Given the description of an element on the screen output the (x, y) to click on. 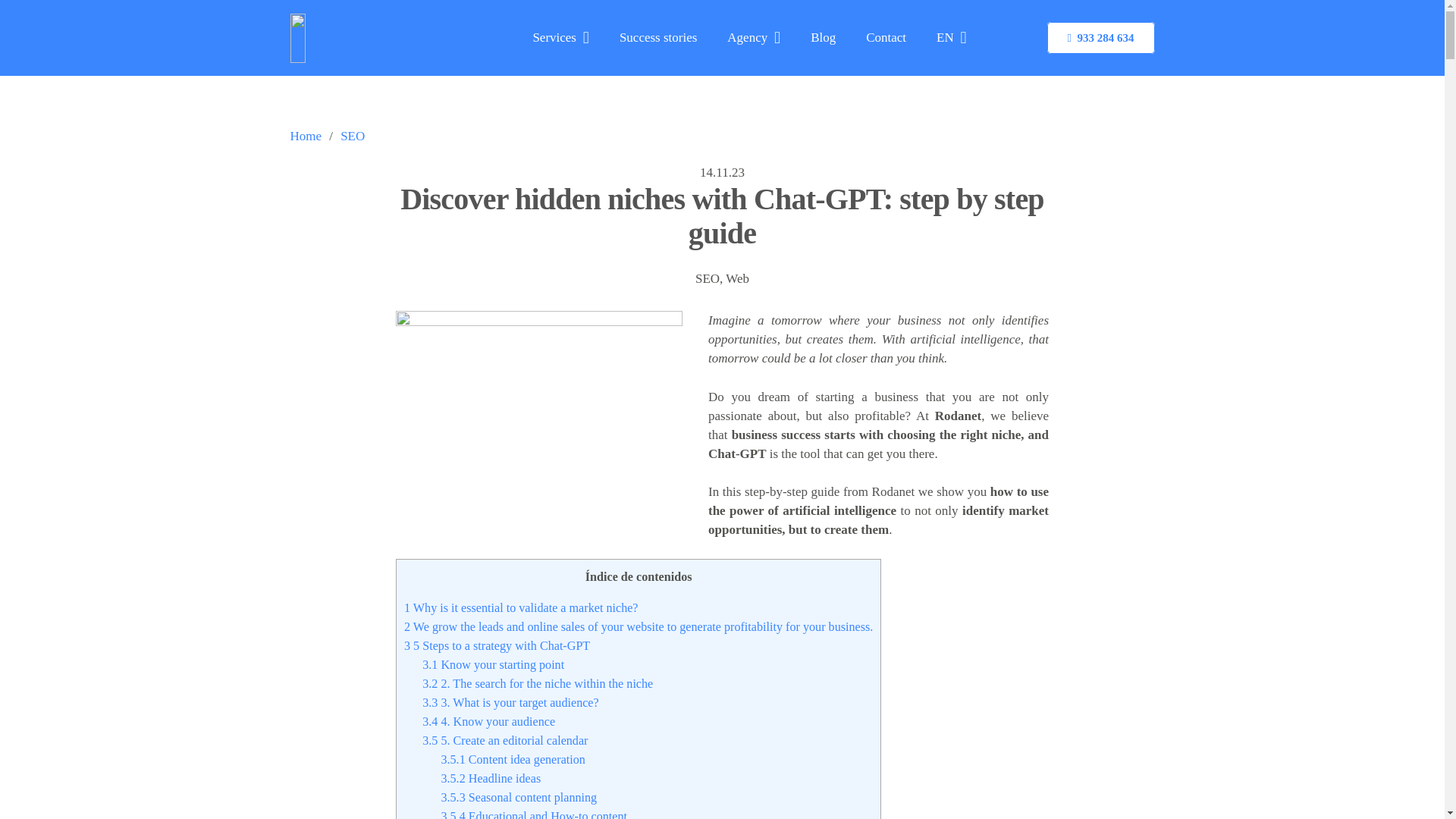
Success stories (657, 38)
Agency (752, 38)
933 284 634 (1100, 38)
Contact (885, 38)
Services (560, 38)
